Given the description of an element on the screen output the (x, y) to click on. 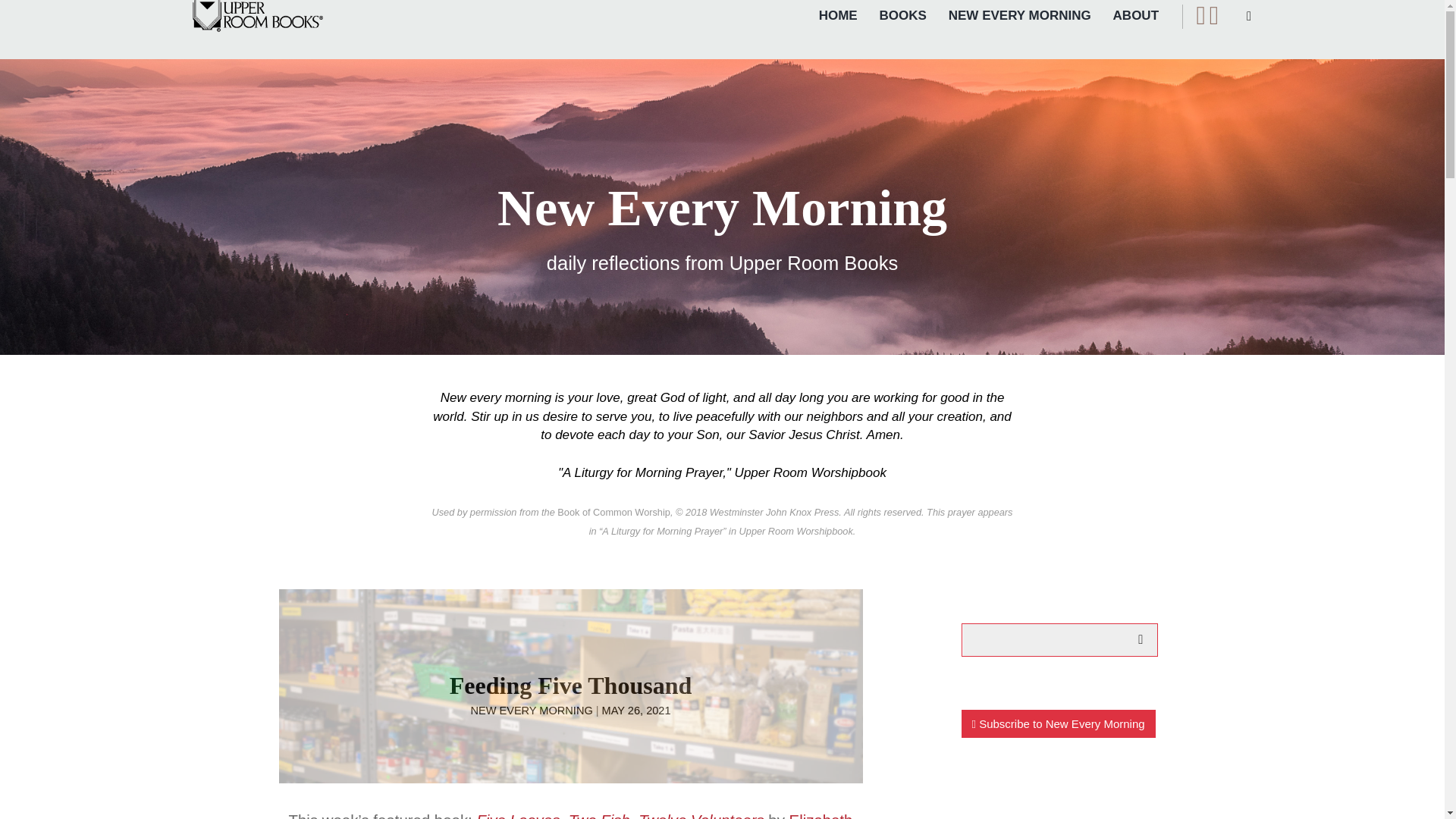
NEW EVERY MORNING (1019, 15)
ABOUT (1135, 15)
BOOKS (902, 15)
Open search (1249, 16)
Five Loaves, Two Fish, Twelve Volunteers (619, 815)
Search for: (1059, 640)
HOME (837, 15)
Feeding Five Thousand (570, 685)
Elizabeth Mae Magill (691, 815)
